Given the description of an element on the screen output the (x, y) to click on. 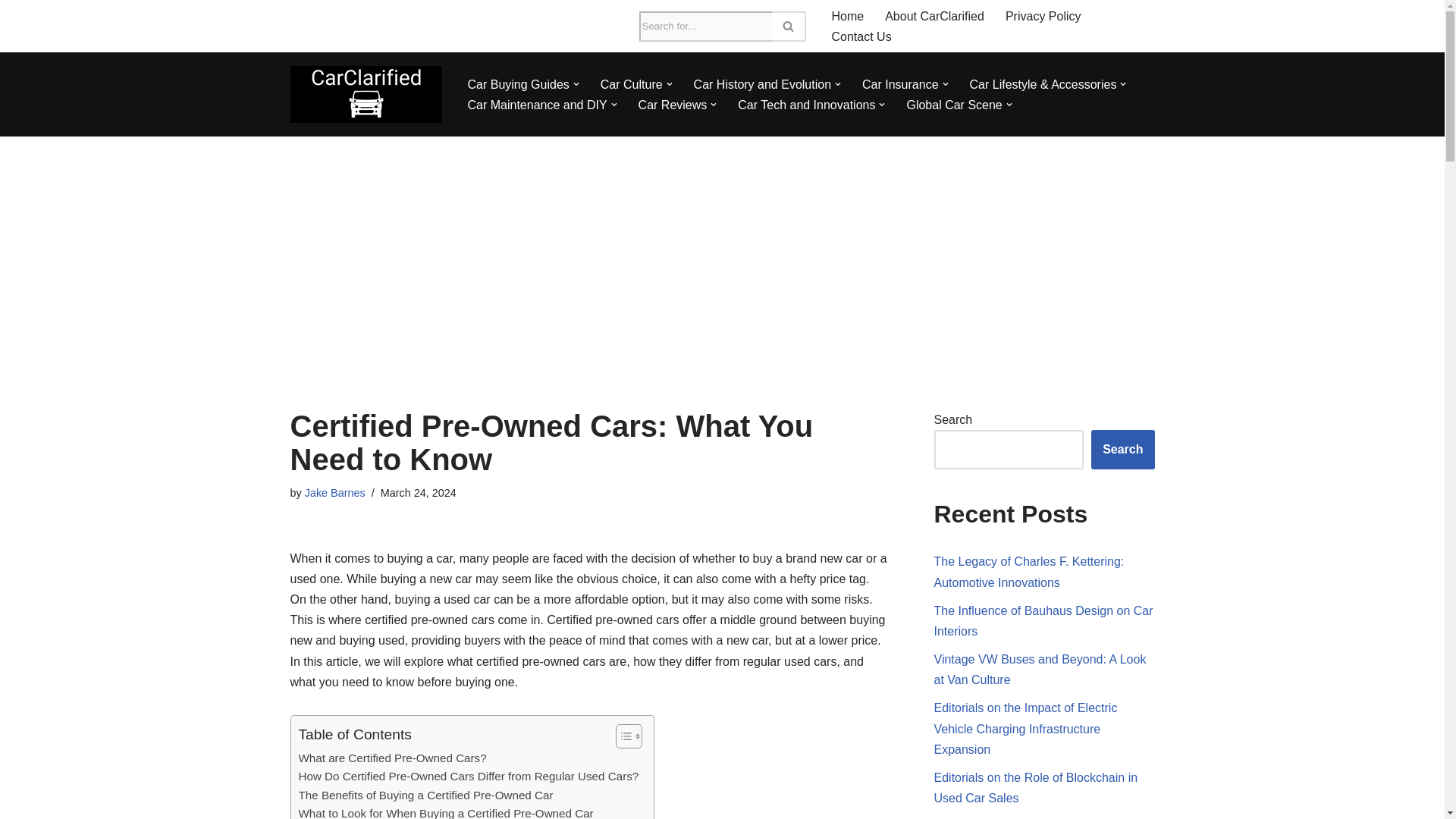
Car Culture (630, 84)
Posts by Jake Barnes (334, 492)
Car Insurance (900, 84)
Contact Us (861, 36)
The Benefits of Buying a Certified Pre-Owned Car (425, 795)
Skip to content (11, 31)
What are Certified Pre-Owned Cars? (392, 758)
What to Look for When Buying a Certified Pre-Owned Car (446, 811)
